Given the description of an element on the screen output the (x, y) to click on. 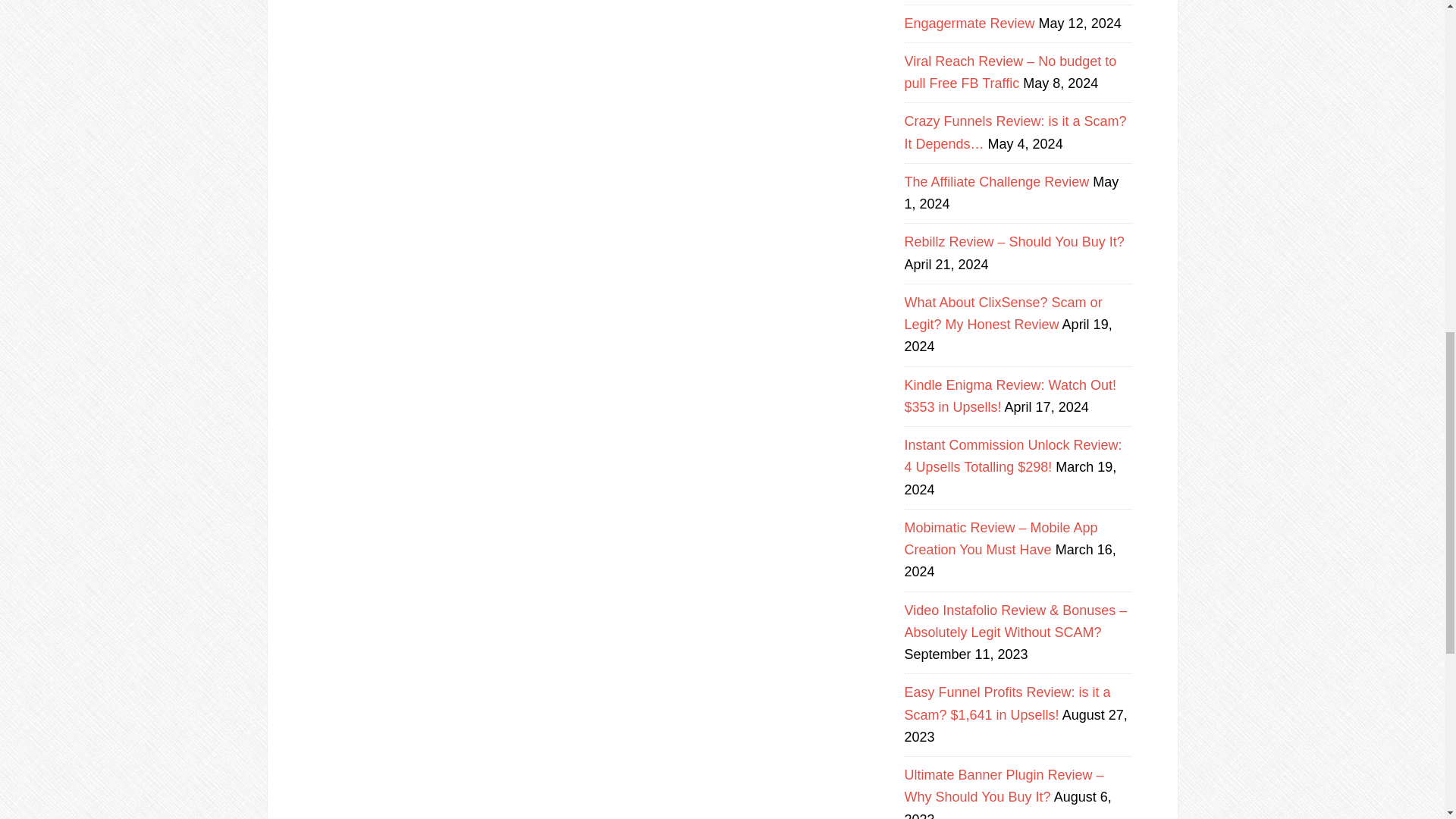
Engagermate Review (968, 23)
The Affiliate Challenge Review (996, 181)
What About ClixSense? Scam or Legit? My Honest Review (1003, 313)
